Given the description of an element on the screen output the (x, y) to click on. 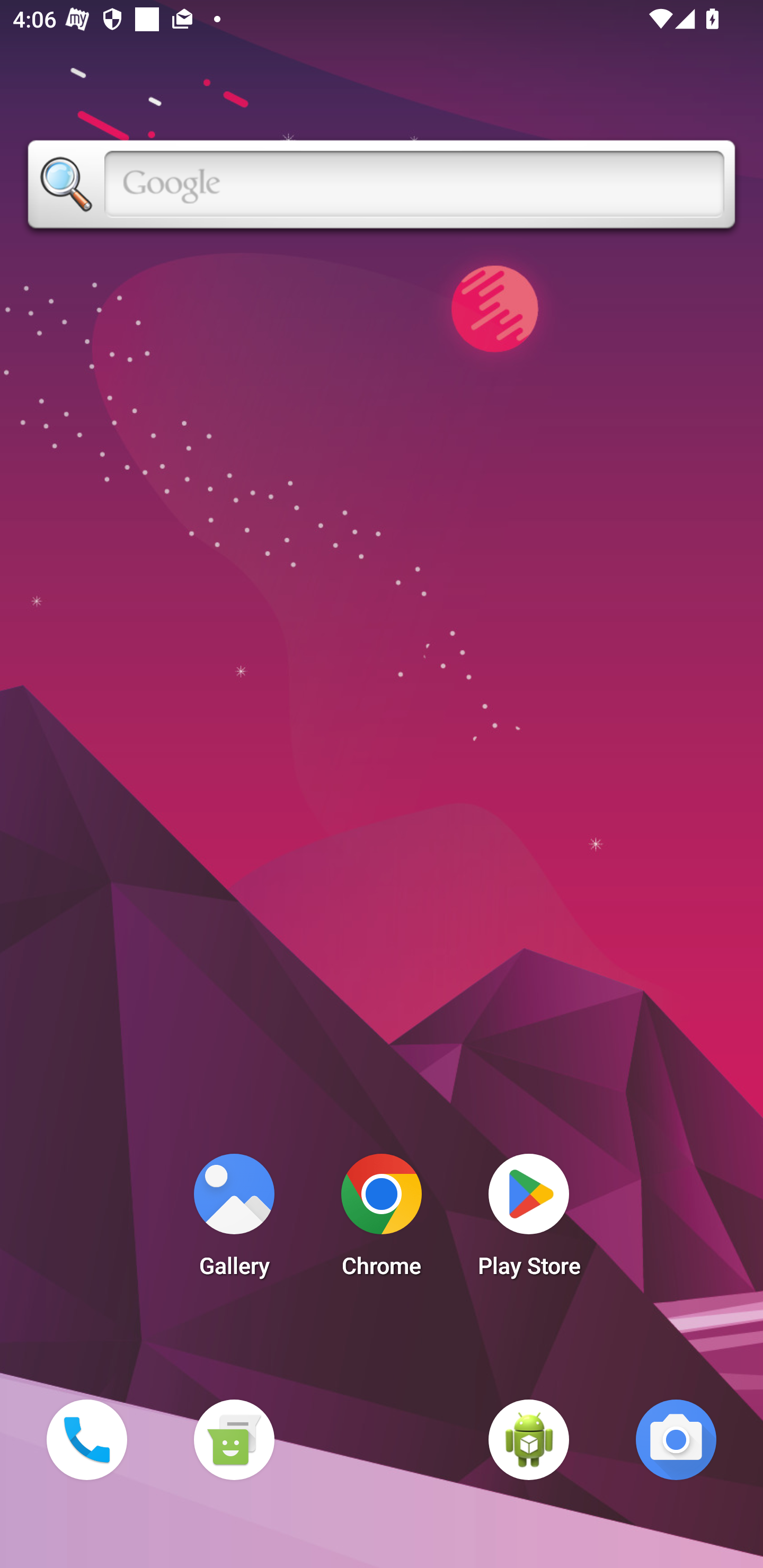
Gallery (233, 1220)
Chrome (381, 1220)
Play Store (528, 1220)
Phone (86, 1439)
Messaging (233, 1439)
WebView Browser Tester (528, 1439)
Camera (676, 1439)
